Given the description of an element on the screen output the (x, y) to click on. 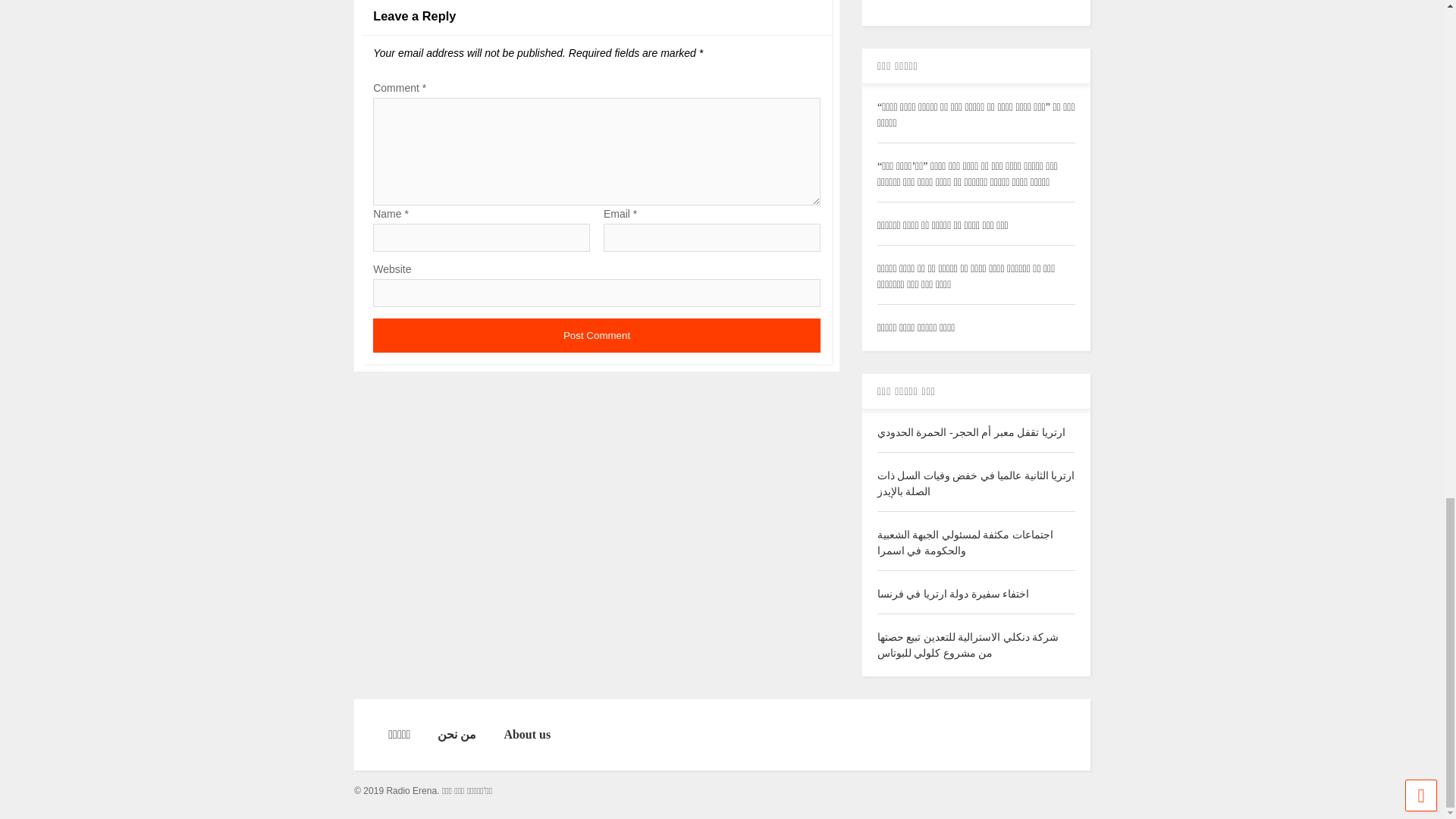
Post Comment (596, 335)
YouTube player (976, 5)
